Given the description of an element on the screen output the (x, y) to click on. 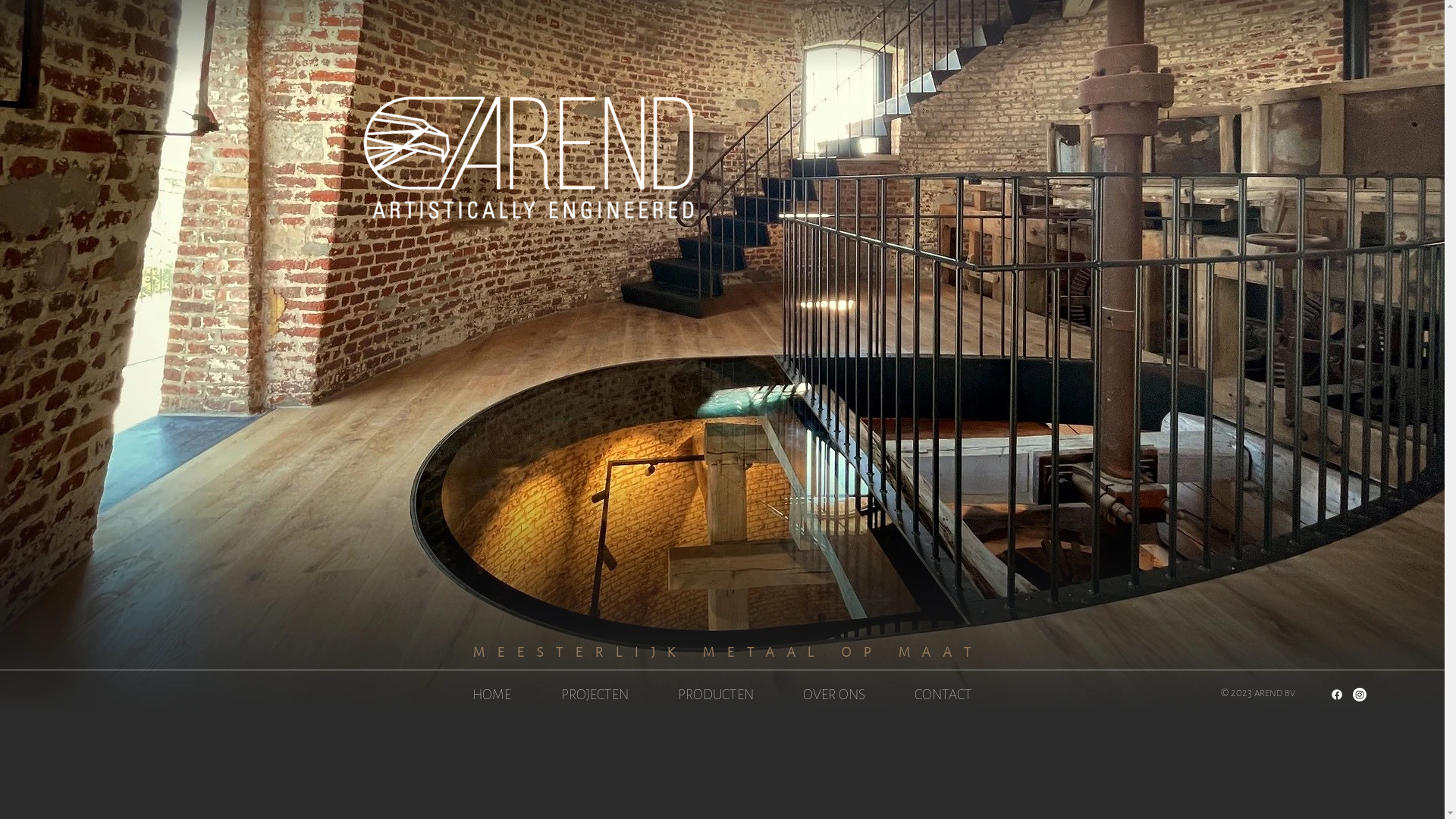
PROJECTEN Element type: text (593, 694)
PRODUCTEN Element type: text (714, 694)
HOME Element type: text (491, 694)
Logo_Arend_RGB_negative_ALLES WIT.png Element type: hover (529, 158)
OVER ONS Element type: text (833, 694)
CONTACT Element type: text (941, 694)
